Given the description of an element on the screen output the (x, y) to click on. 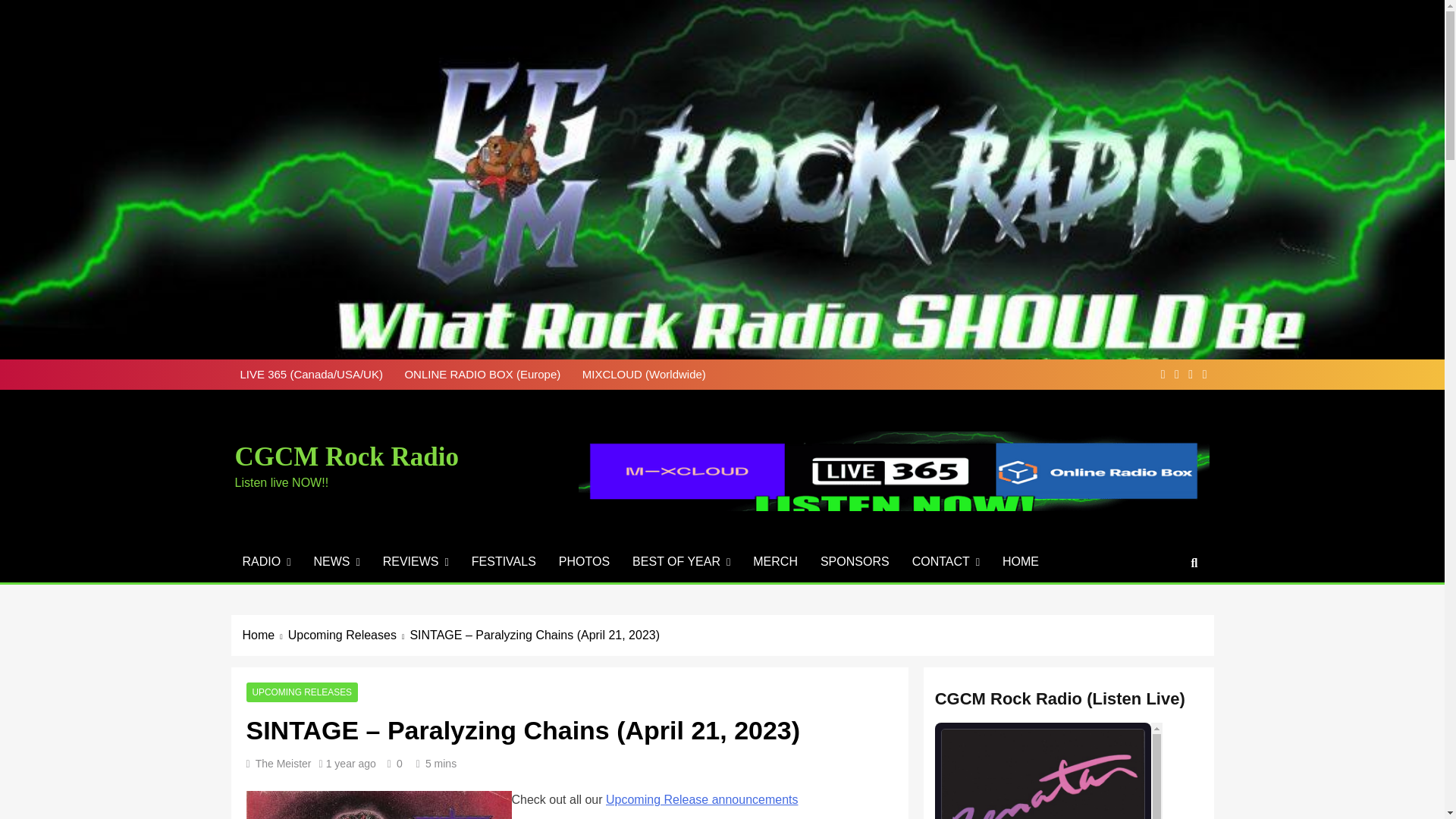
RADIO (265, 561)
NEWS (336, 561)
BEST OF YEAR (681, 561)
PHOTOS (584, 561)
FESTIVALS (503, 561)
CGCM Rock Radio (347, 456)
REVIEWS (415, 561)
